Given the description of an element on the screen output the (x, y) to click on. 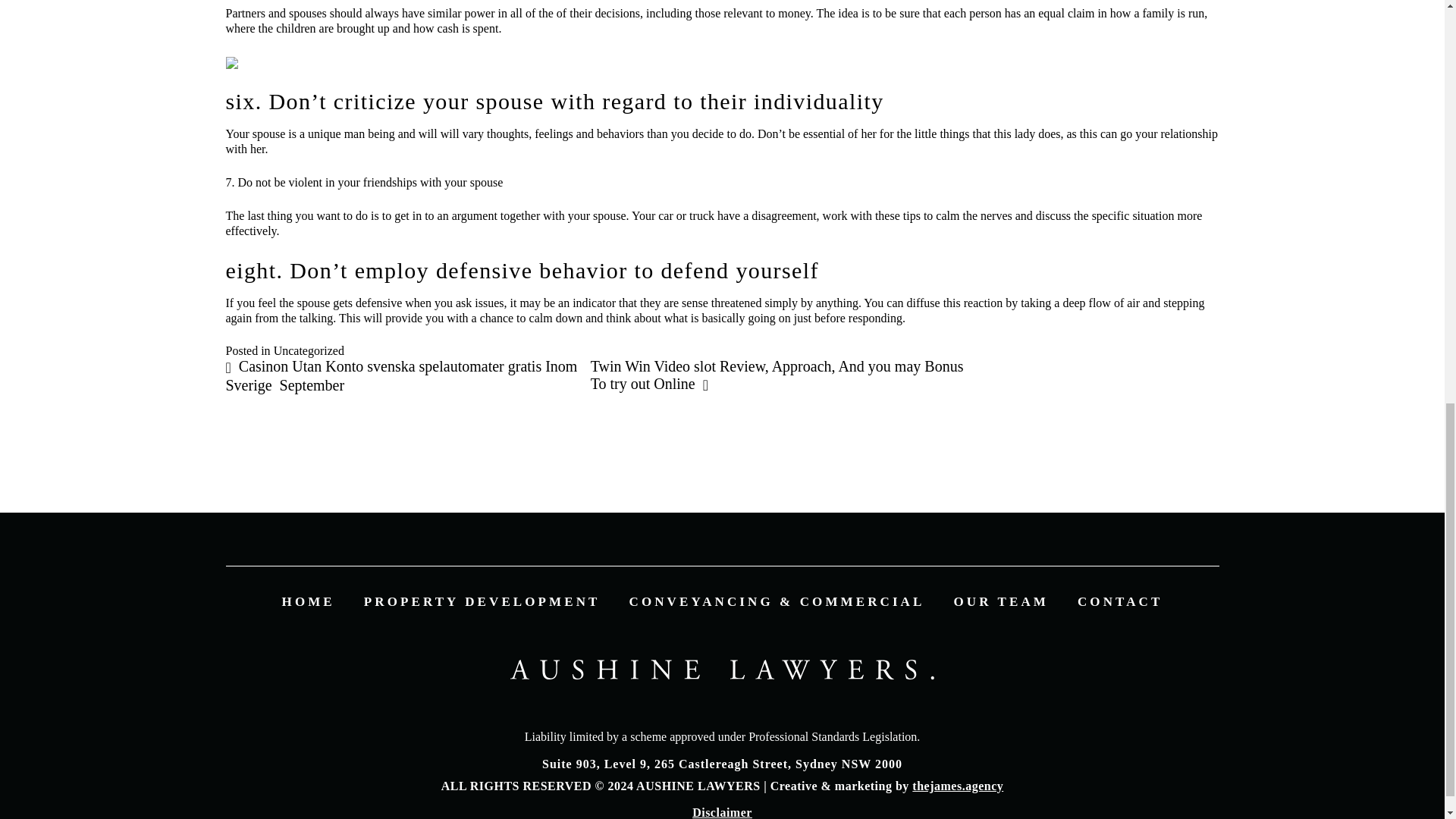
Disclaimer (722, 812)
Disclaimer (722, 812)
Suite 903, Level 9, 265 Castlereagh Street, Sydney NSW 2000 (721, 763)
Uncategorized (308, 350)
OUR TEAM (1000, 601)
HOME (308, 601)
thejames.agency (957, 785)
CONTACT (1119, 601)
PROPERTY DEVELOPMENT (481, 601)
